Given the description of an element on the screen output the (x, y) to click on. 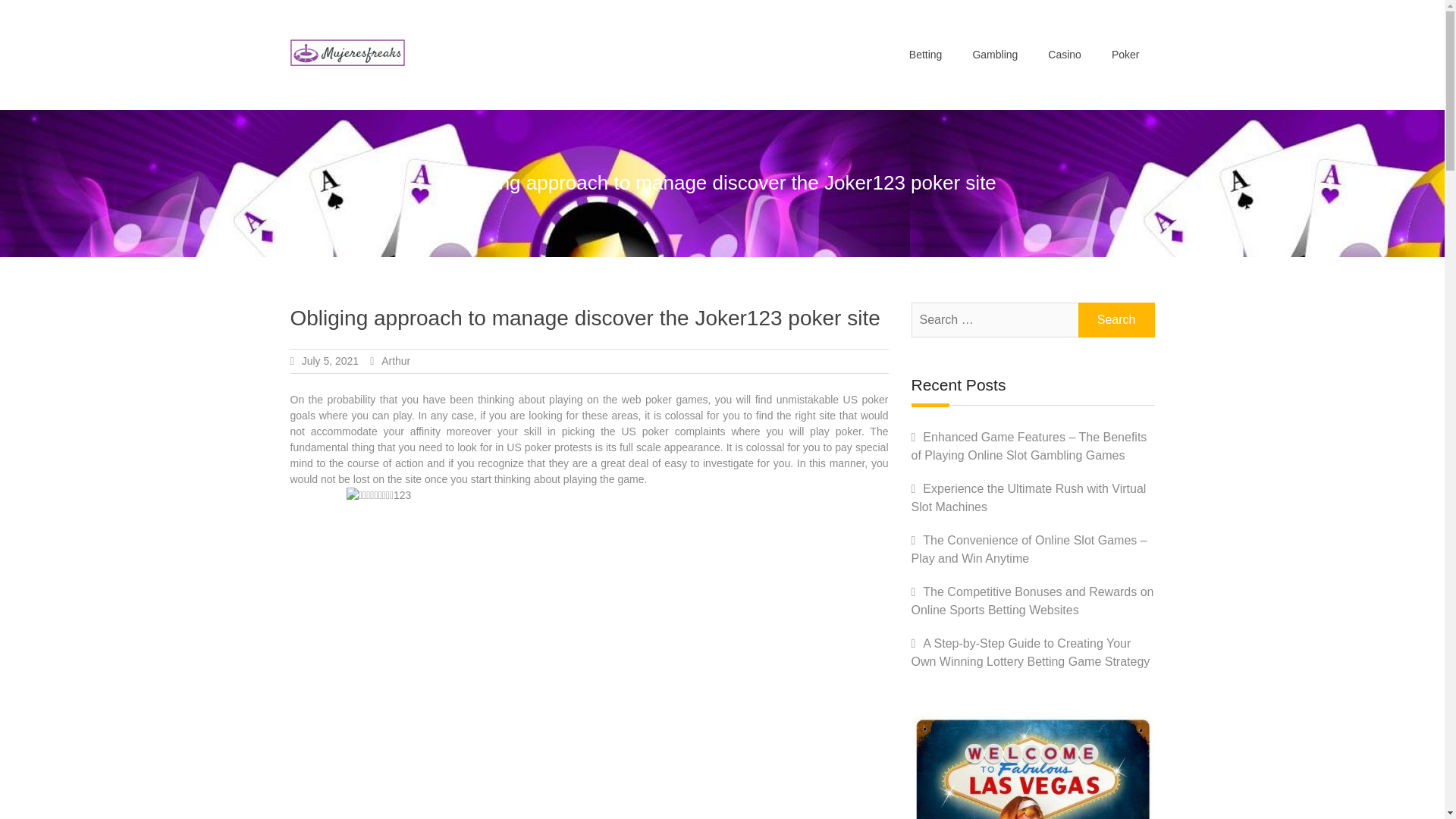
Casino (1064, 55)
July 5, 2021 (330, 360)
Experience the Ultimate Rush with Virtual Slot Machines (1029, 497)
Search (1116, 319)
Gambling (994, 55)
Arthur (395, 360)
Betting (925, 55)
Search (1116, 319)
